Given the description of an element on the screen output the (x, y) to click on. 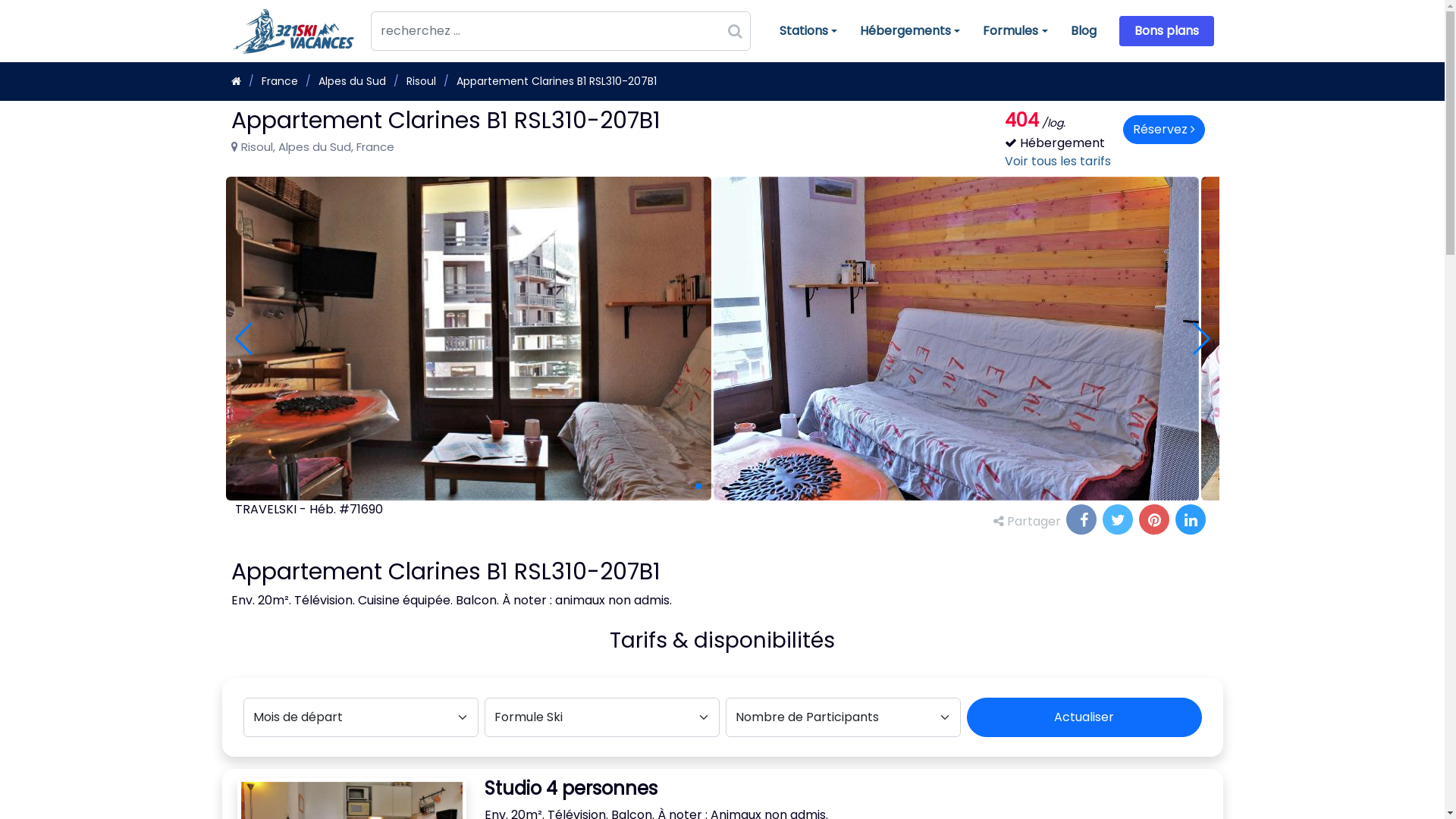
Bons plans Element type: text (1166, 30)
Partager sur Twitter Element type: hover (1118, 521)
Partager sur Pinterest Element type: hover (1155, 521)
France Element type: text (278, 80)
Actualiser Element type: text (1083, 717)
Formules
Formules Element type: text (1003, 30)
Stations
Stations de ski Element type: text (796, 30)
Alpes du Sud Element type: text (351, 80)
Partager sur Facebook Element type: hover (1082, 521)
Risoul Element type: text (421, 80)
Blog Element type: text (1072, 30)
Voir tous les tarifs Element type: text (1057, 160)
Partager sur Linkedin Element type: hover (1191, 521)
Ski Vacances Element type: hover (235, 80)
